Given the description of an element on the screen output the (x, y) to click on. 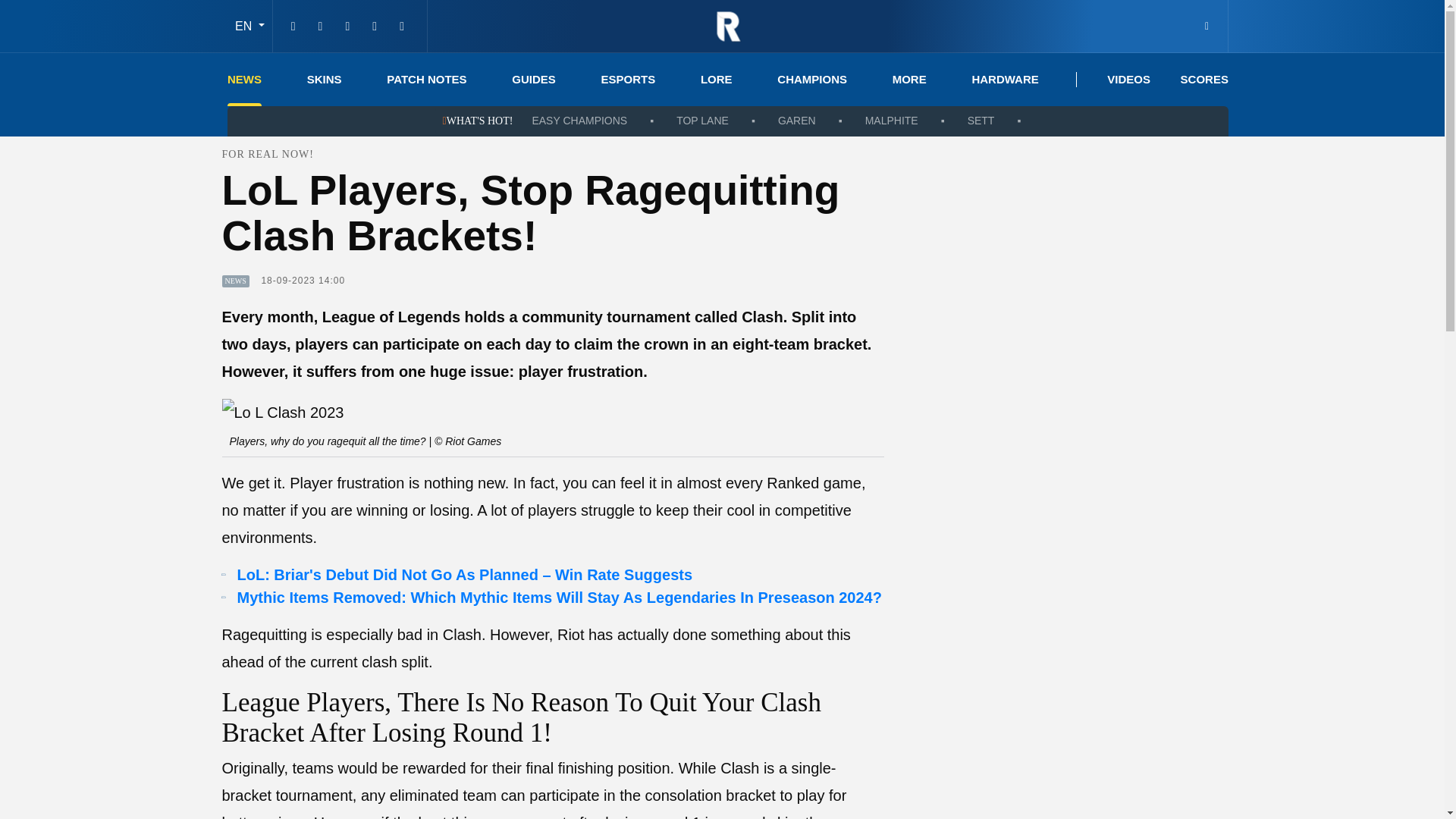
GAREN (797, 121)
MALPHITE (891, 121)
Patch Notes (426, 79)
PATCH NOTES (426, 79)
Hardware (1004, 79)
SETT (981, 121)
HARDWARE (1004, 79)
EN (249, 26)
Champions (812, 79)
TOP LANE (702, 121)
